Given the description of an element on the screen output the (x, y) to click on. 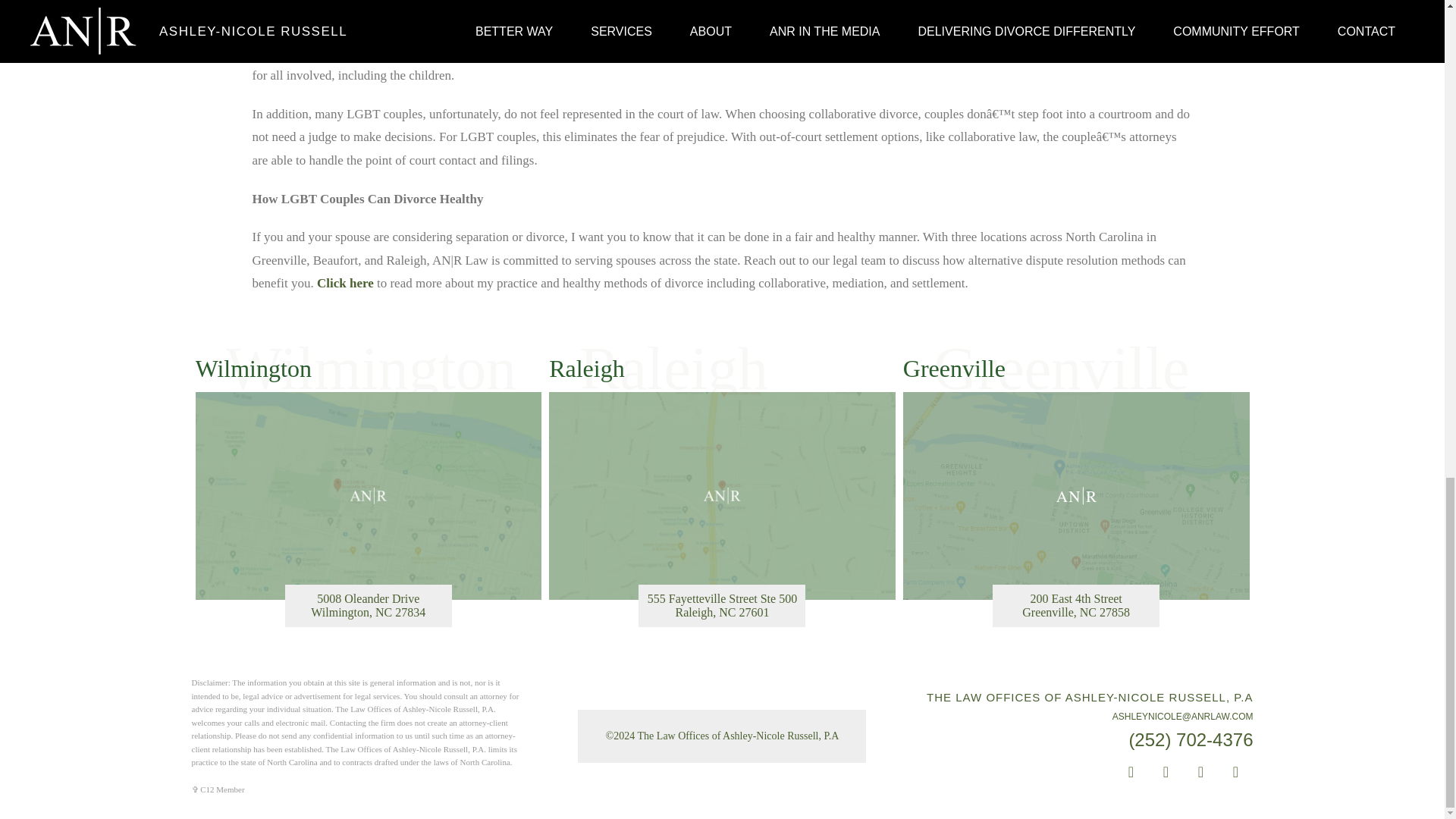
Follow ANR Law on LinkedIn (1075, 509)
Like ANR Law on Facebook (1201, 771)
Follow ANR Law on YouTube (1131, 771)
Follow ANR Law on Instagram (368, 509)
Click here (1166, 771)
